Given the description of an element on the screen output the (x, y) to click on. 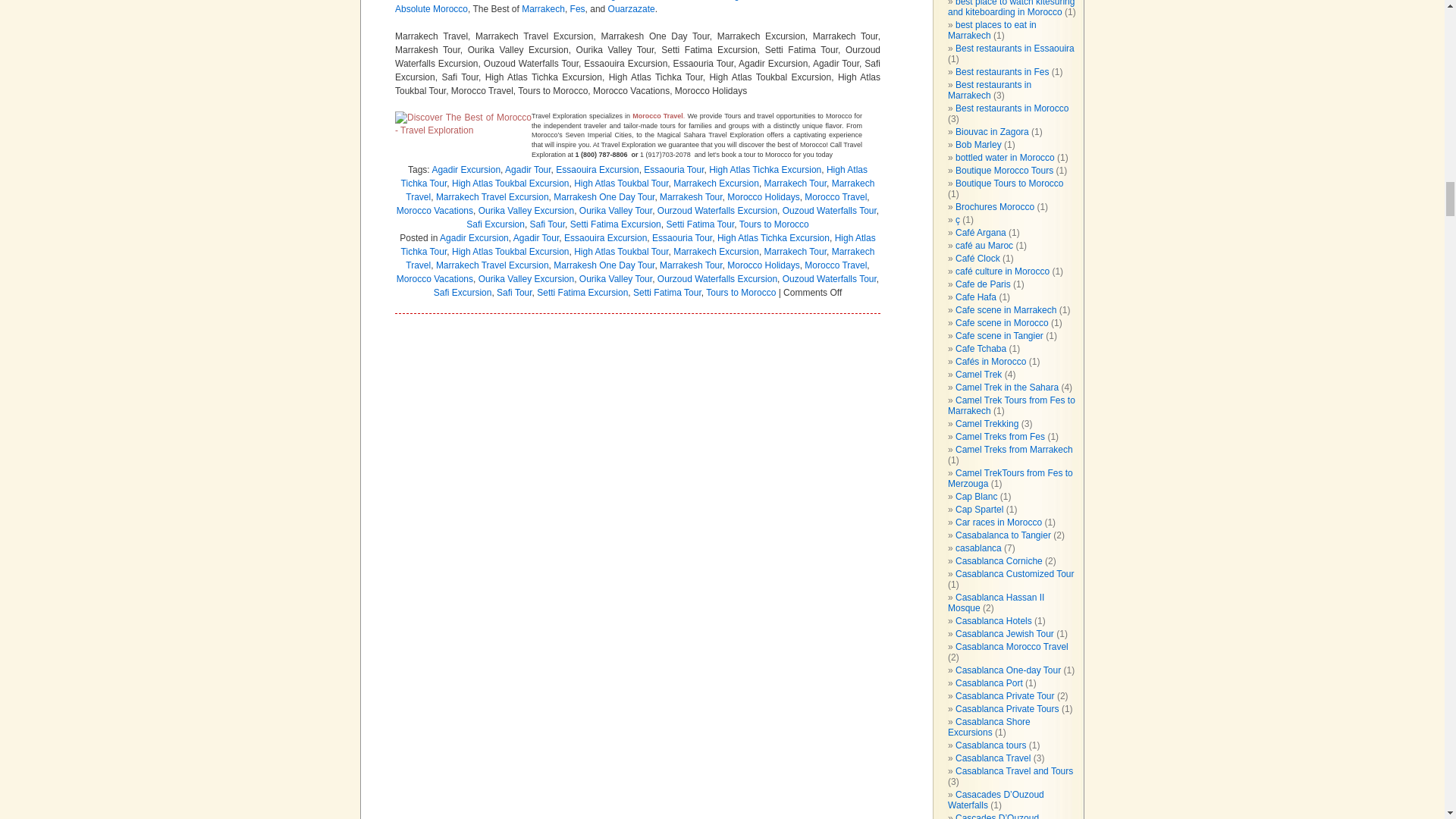
travel-exploration-signature-logo-link13 (462, 132)
